Given the description of an element on the screen output the (x, y) to click on. 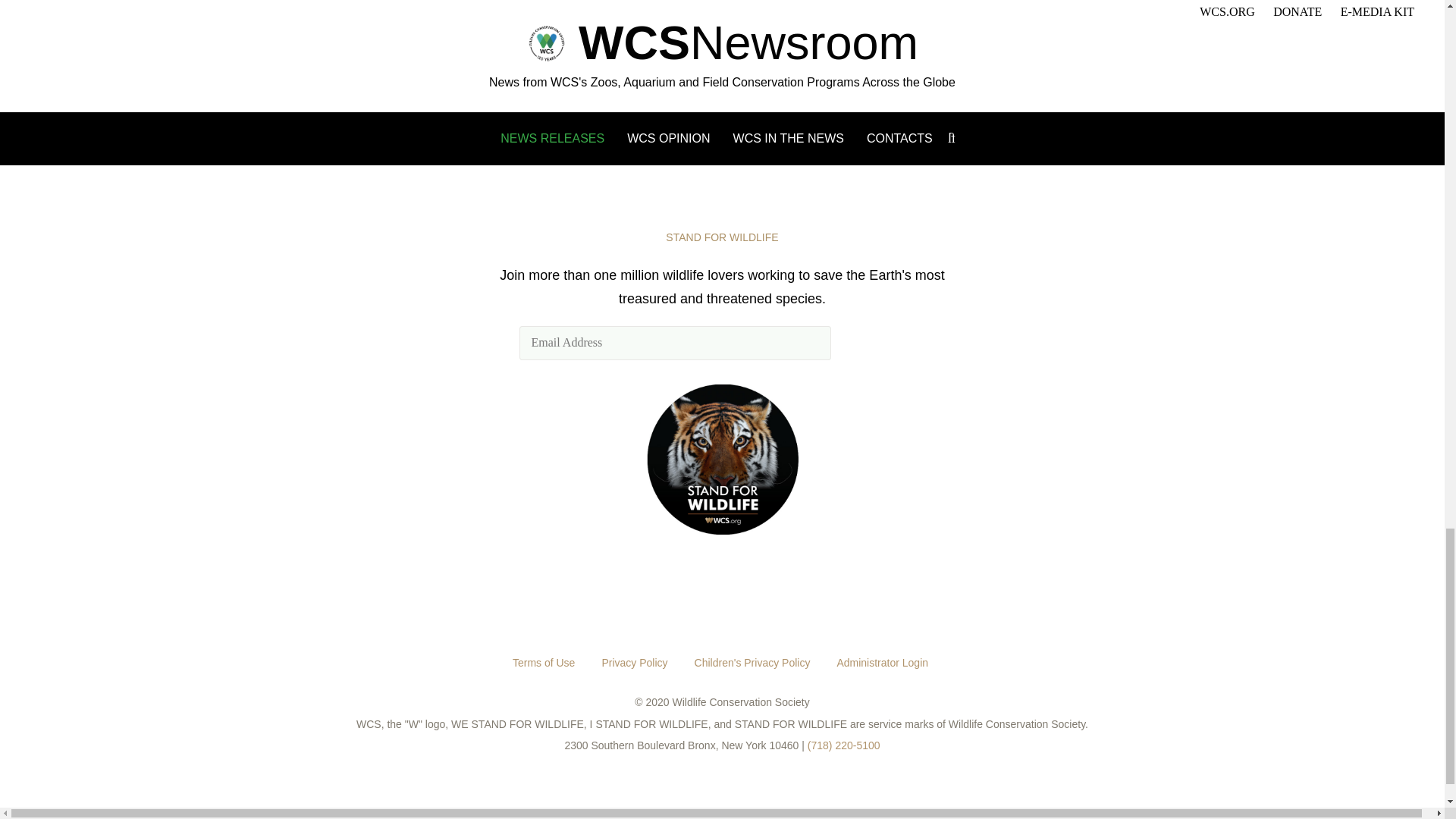
Terms of Use (543, 662)
Privacy Policy (634, 662)
Administrator Login (882, 662)
SIGN UP (880, 342)
Children's Privacy Policy (752, 662)
